Given the description of an element on the screen output the (x, y) to click on. 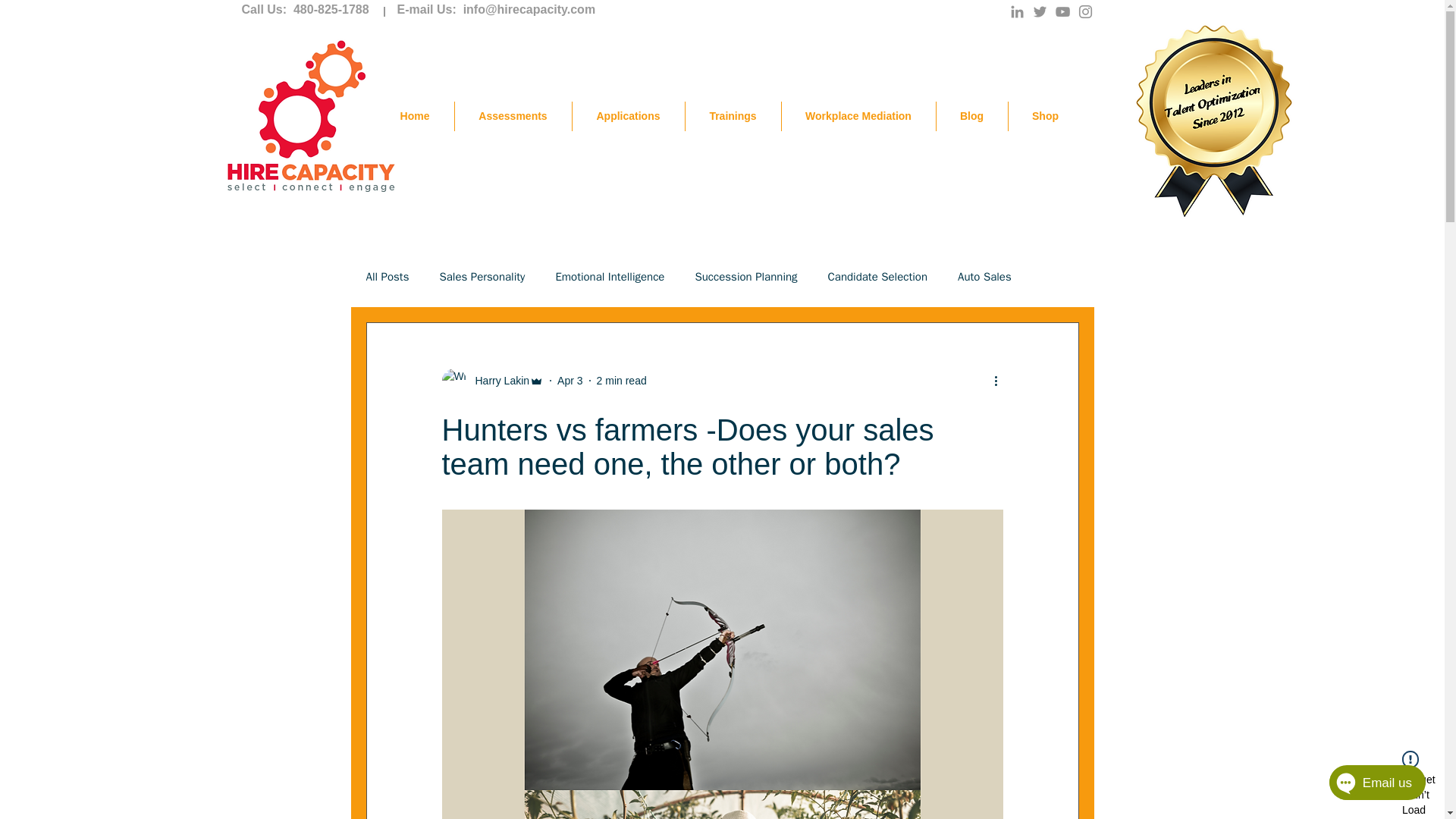
Home (414, 116)
Succession Planning (745, 277)
Apr 3 (569, 380)
Emotional Intelligence (608, 277)
Shop (1046, 116)
All Posts (387, 277)
Workplace Mediation (857, 116)
Sales Personality (481, 277)
Harry Lakin (497, 381)
Assessments (513, 116)
Trainings (732, 116)
Candidate Selection (877, 277)
2 min read (621, 380)
Blog (971, 116)
Harry Lakin (492, 380)
